Given the description of an element on the screen output the (x, y) to click on. 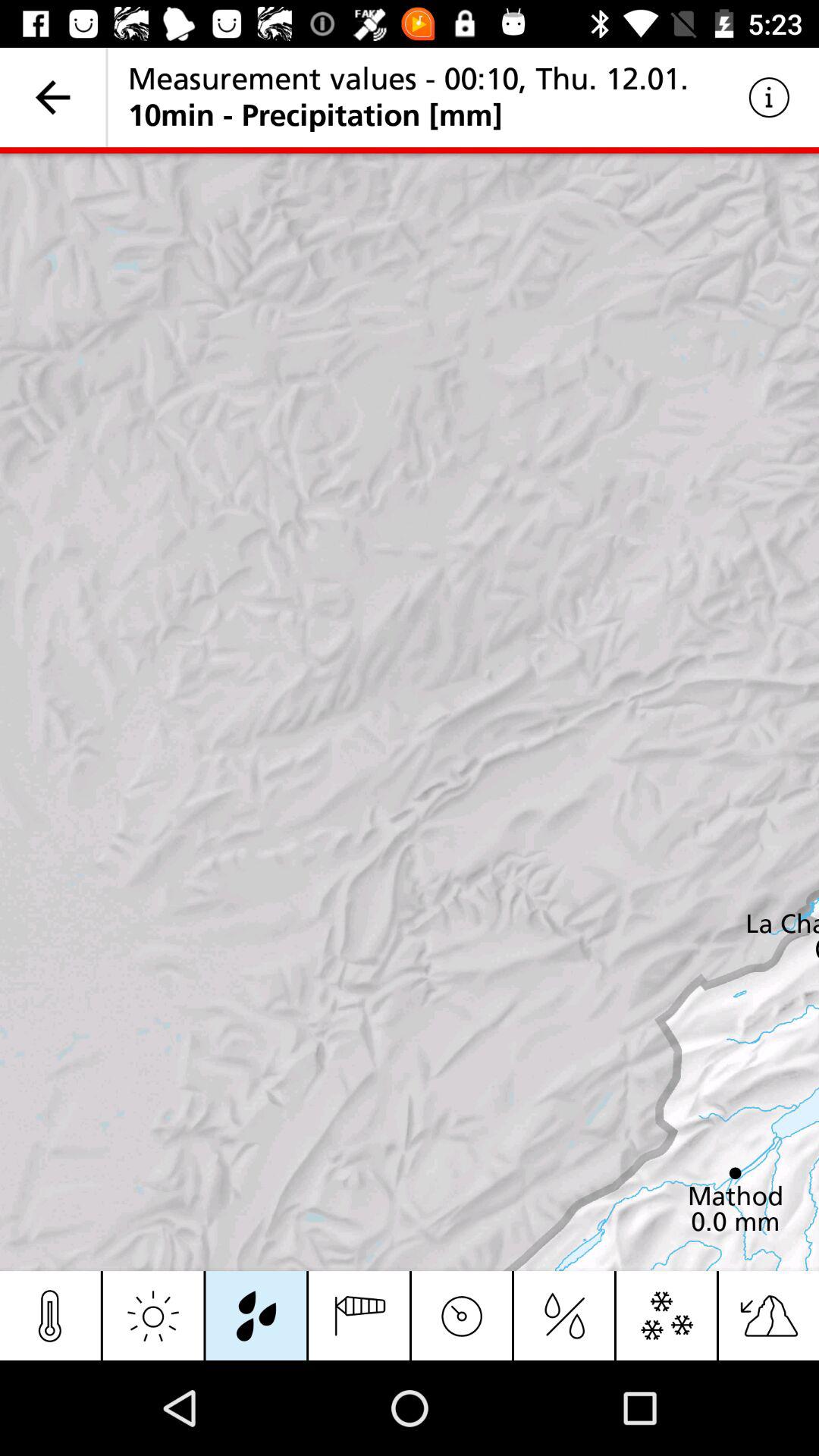
open item next to measurement values 00 (769, 97)
